Given the description of an element on the screen output the (x, y) to click on. 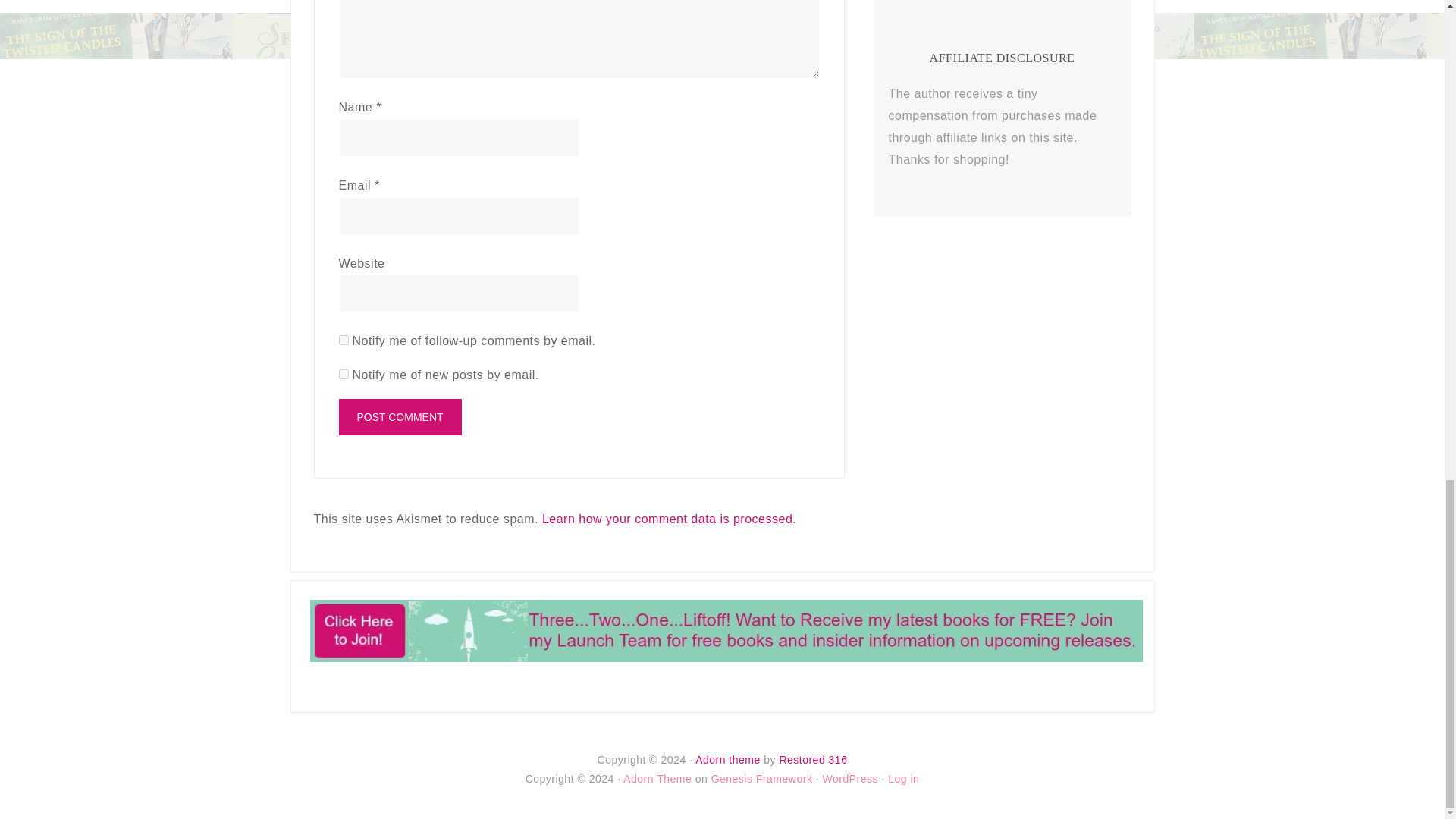
Adorn theme (727, 759)
subscribe (342, 374)
Post Comment (399, 416)
Post Comment (399, 416)
Genesis Framework (761, 778)
Learn how your comment data is processed (666, 518)
Restored 316 (812, 759)
subscribe (342, 339)
Adorn Theme (657, 778)
